Given the description of an element on the screen output the (x, y) to click on. 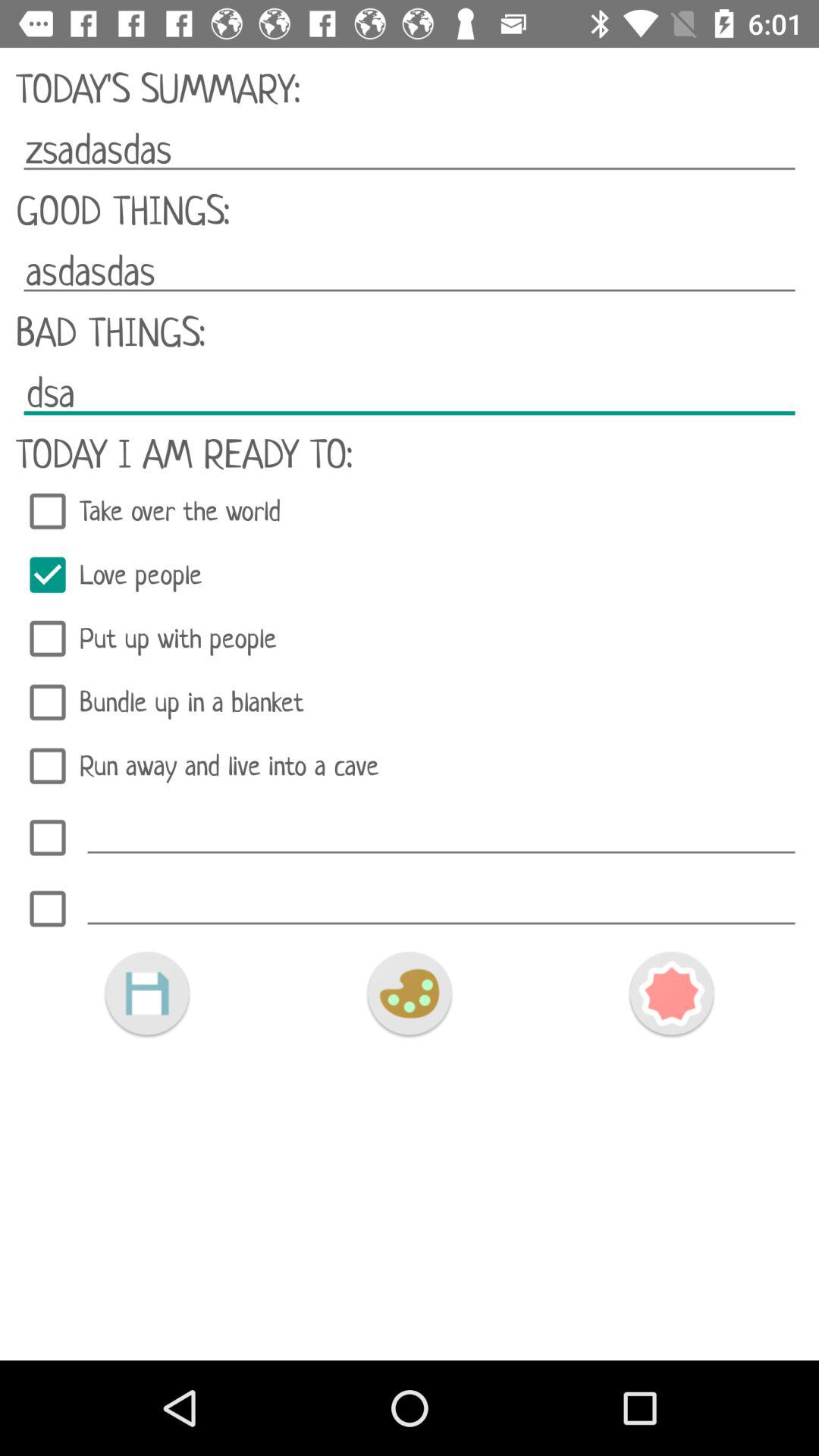
enter option (441, 833)
